Given the description of an element on the screen output the (x, y) to click on. 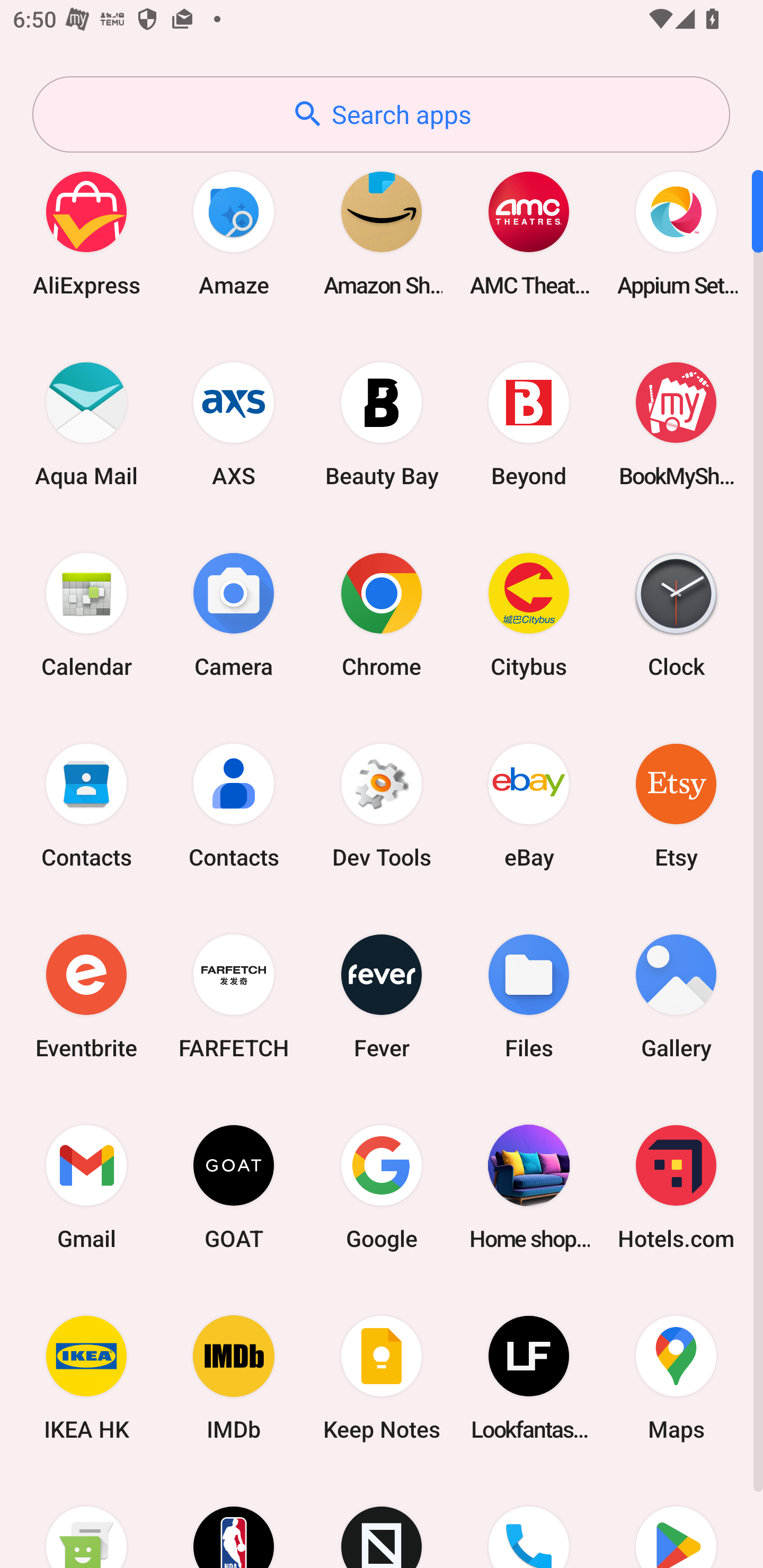
  Search apps (381, 114)
AliExpress (86, 233)
Amaze (233, 233)
Amazon Shopping (381, 233)
AMC Theatres (528, 233)
Appium Settings (676, 233)
Aqua Mail (86, 424)
AXS (233, 424)
Beauty Bay (381, 424)
Beyond (528, 424)
BookMyShow (676, 424)
Calendar (86, 614)
Camera (233, 614)
Chrome (381, 614)
Citybus (528, 614)
Clock (676, 614)
Contacts (86, 805)
Contacts (233, 805)
Dev Tools (381, 805)
eBay (528, 805)
Etsy (676, 805)
Eventbrite (86, 996)
FARFETCH (233, 996)
Fever (381, 996)
Files (528, 996)
Gallery (676, 996)
Gmail (86, 1186)
GOAT (233, 1186)
Google (381, 1186)
Home shopping (528, 1186)
Hotels.com (676, 1186)
IKEA HK (86, 1377)
IMDb (233, 1377)
Keep Notes (381, 1377)
Lookfantastic (528, 1377)
Maps (676, 1377)
Messaging (86, 1520)
NBA (233, 1520)
Novelship (381, 1520)
Phone (528, 1520)
Play Store (676, 1520)
